Given the description of an element on the screen output the (x, y) to click on. 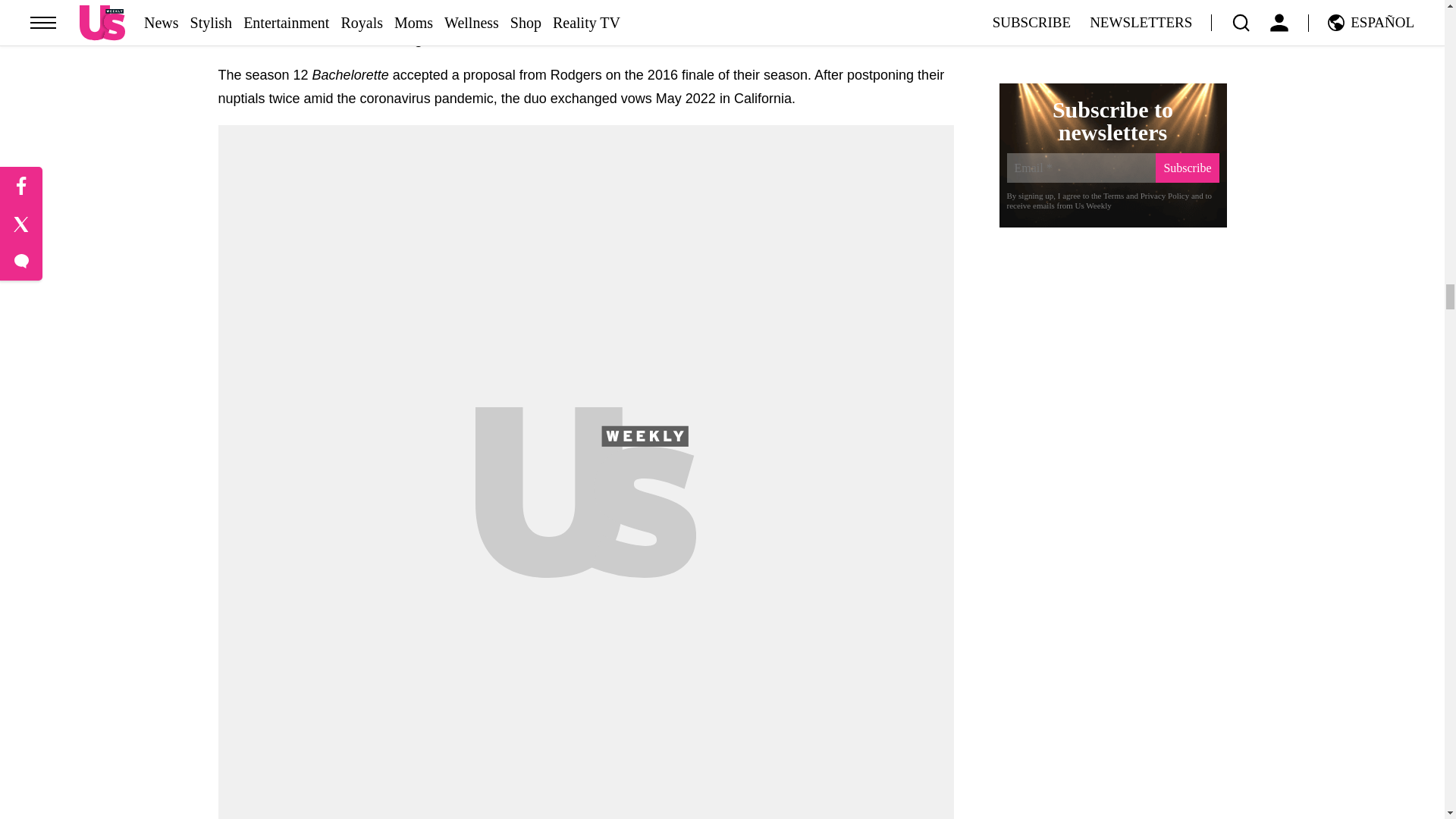
JoJo Fletcher and Jordan Rodgers (585, 67)
